Given the description of an element on the screen output the (x, y) to click on. 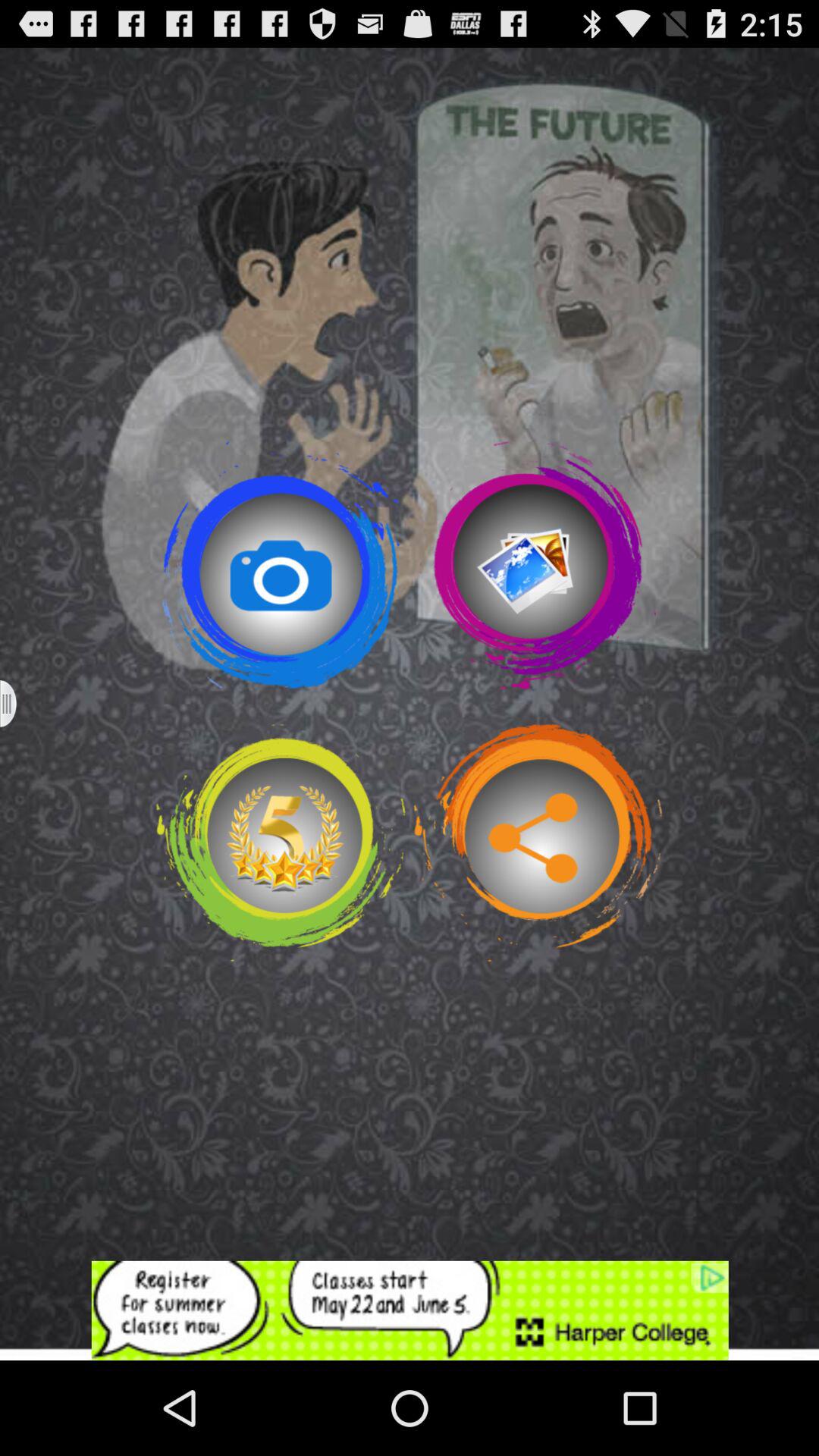
share the image (537, 842)
